Given the description of an element on the screen output the (x, y) to click on. 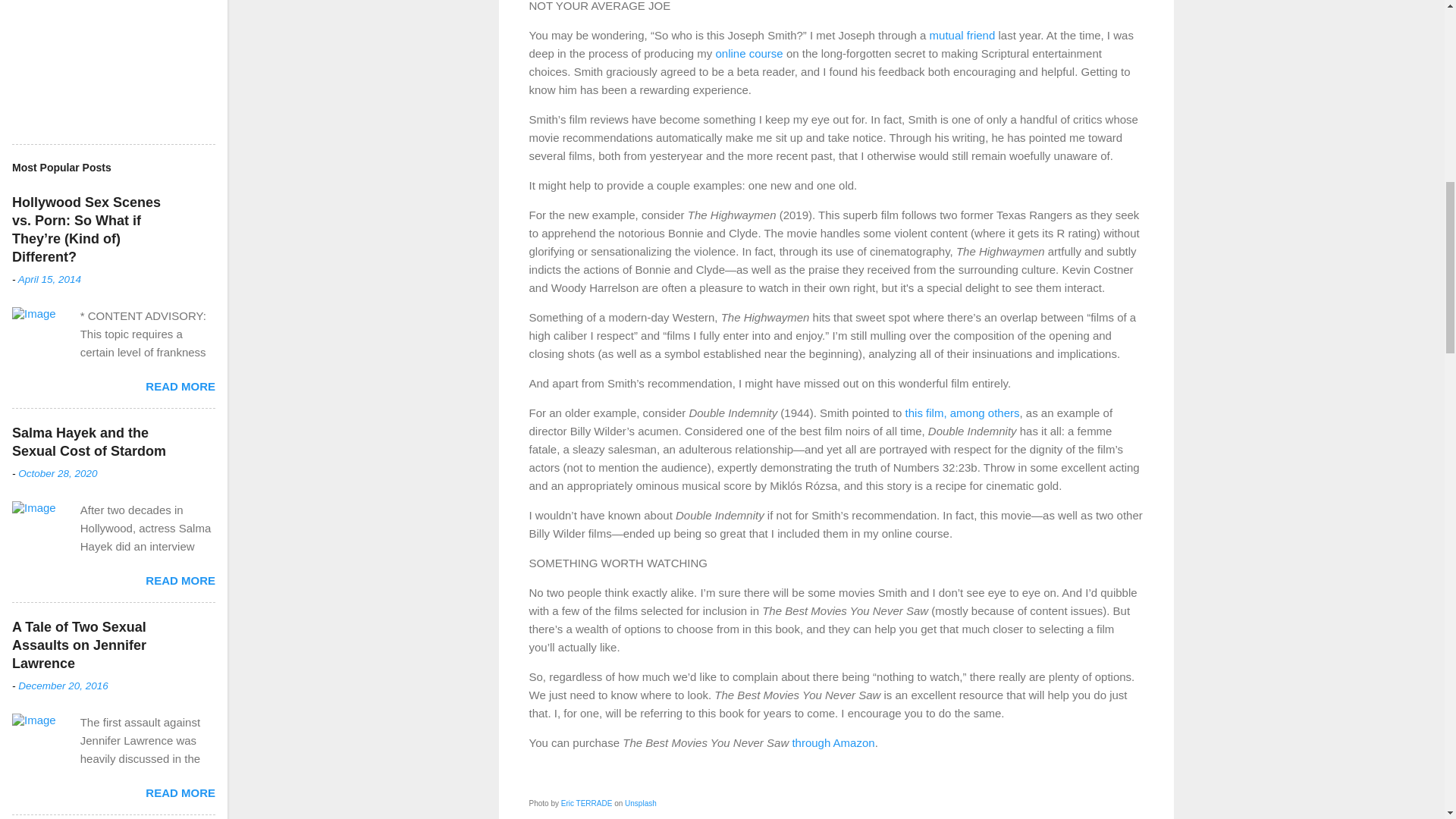
permanent link (49, 279)
A Tale of Two Sexual Assaults on Jennifer Lawrence (79, 644)
READ MORE (180, 386)
online course (748, 52)
October 28, 2020 (57, 473)
Eric TERRADE (586, 803)
through Amazon (833, 741)
December 20, 2016 (62, 685)
READ MORE (180, 580)
Unsplash (640, 803)
Salma Hayek and the Sexual Cost of Stardom (88, 441)
mutual friend (962, 34)
April 15, 2014 (49, 279)
this film, among others (962, 412)
